Given the description of an element on the screen output the (x, y) to click on. 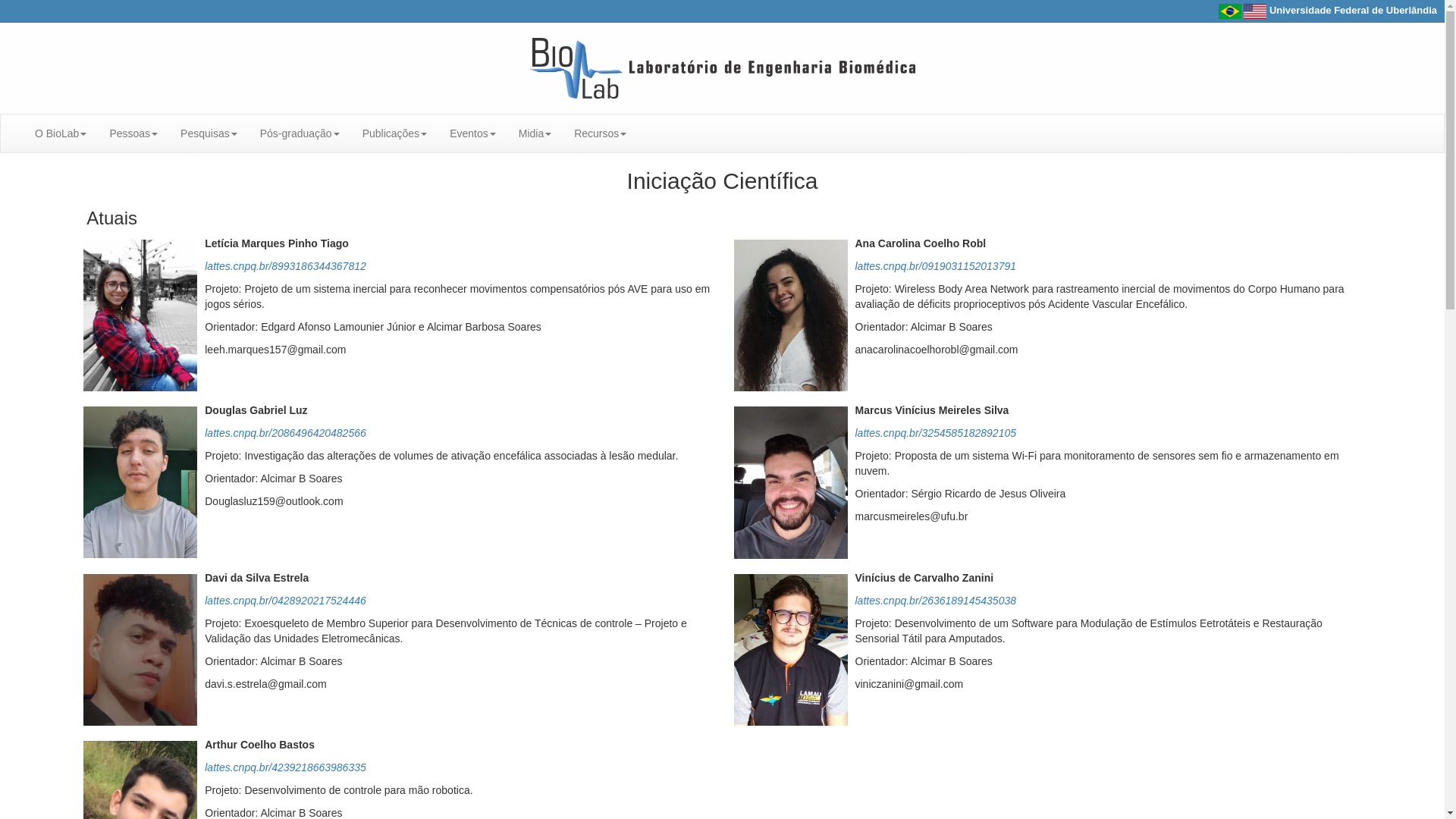
Pesquisas Element type: text (208, 133)
Midia Element type: text (534, 133)
lattes.cnpq.br/0428920217524446 Element type: text (285, 600)
lattes.cnpq.br/8993186344367812 Element type: text (285, 266)
lattes.cnpq.br/2636189145435038 Element type: text (935, 600)
lattes.cnpq.br/0919031152013791 Element type: text (935, 266)
Eventos Element type: text (472, 133)
lattes.cnpq.br/4239218663986335 Element type: text (285, 767)
lattes.cnpq.br/3254585182892105 Element type: text (935, 432)
Pessoas Element type: text (133, 133)
Recursos Element type: text (599, 133)
O BioLab Element type: text (60, 133)
lattes.cnpq.br/2086496420482566 Element type: text (285, 432)
